Given the description of an element on the screen output the (x, y) to click on. 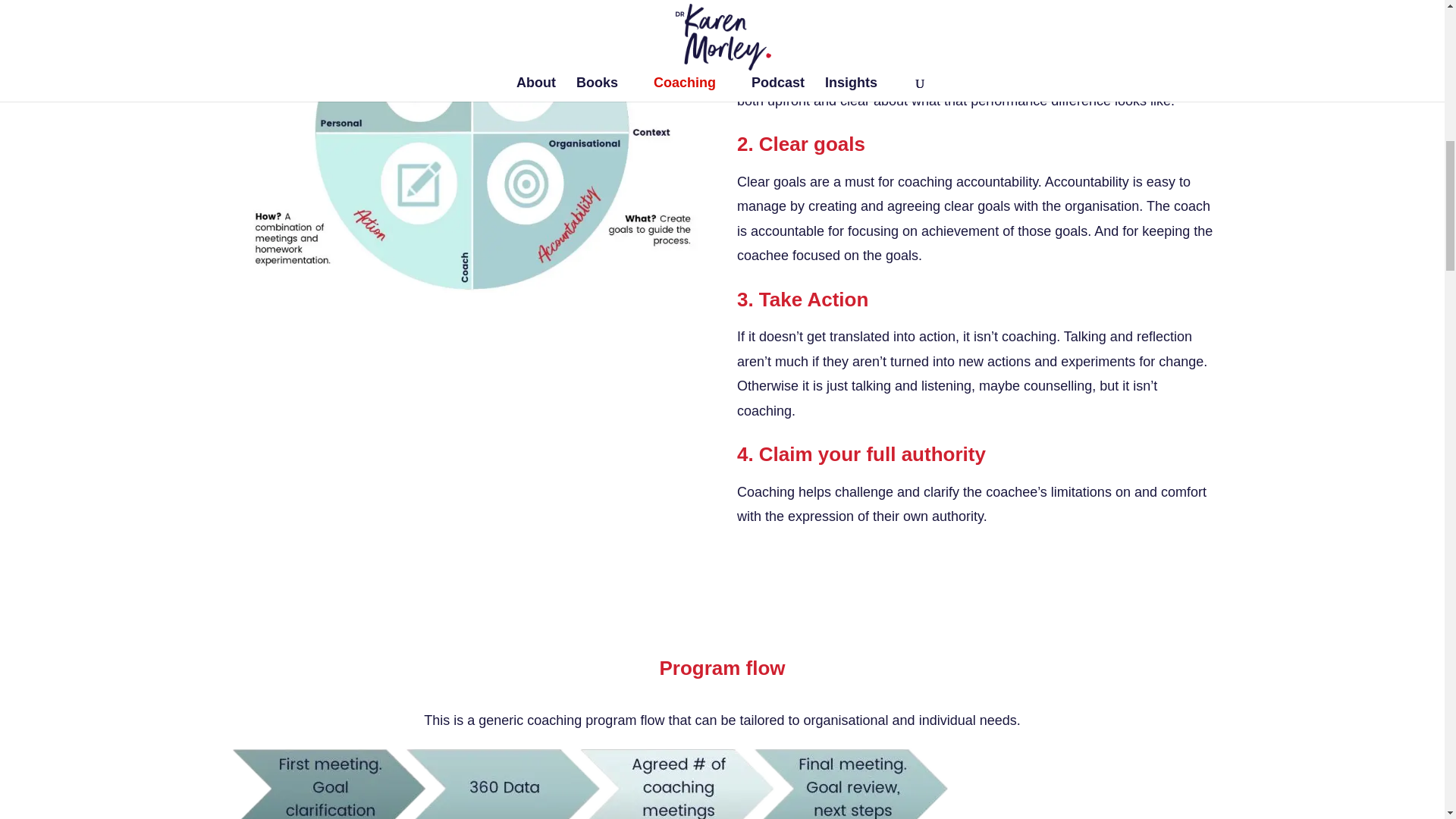
Karen Morley Executive Coaching Framework (588, 783)
